Given the description of an element on the screen output the (x, y) to click on. 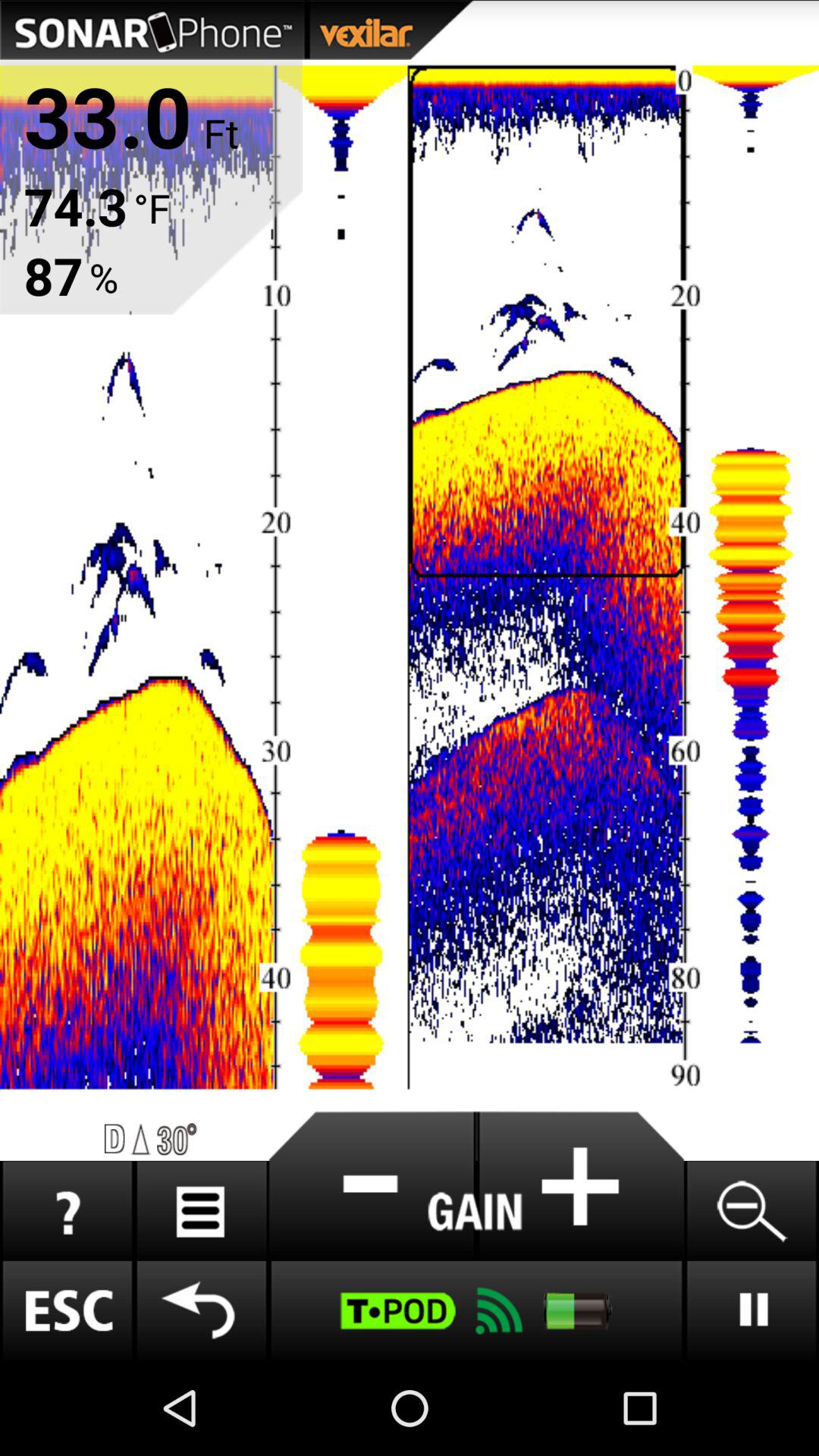
list menu (201, 1210)
